Given the description of an element on the screen output the (x, y) to click on. 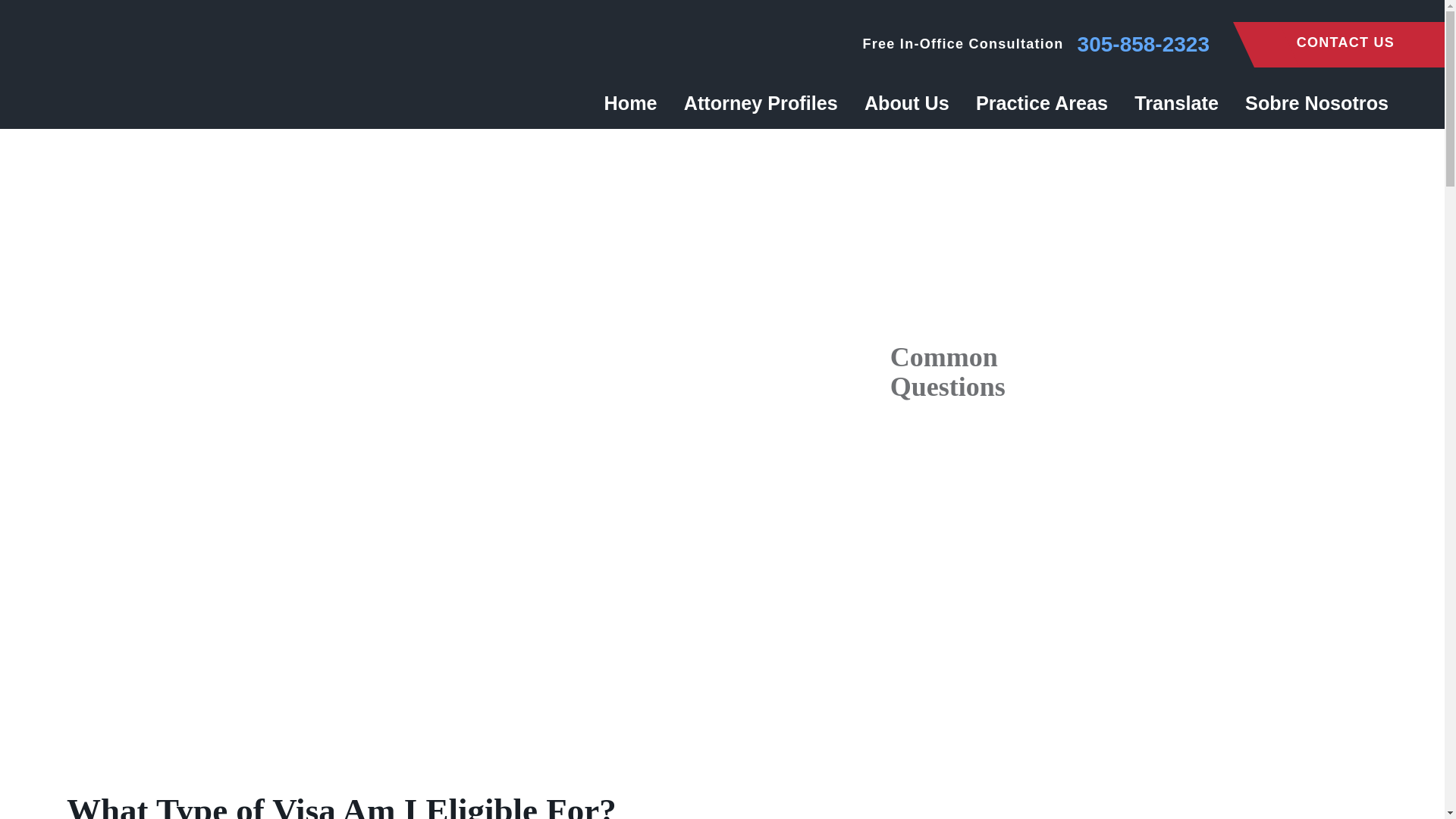
Common Questions (1133, 717)
Attorney Profiles (759, 102)
About Us (906, 102)
Open the accessibility options menu (1412, 786)
Practice Areas (1041, 102)
Translate (1176, 102)
Home (637, 102)
305-858-2323 (1143, 44)
Sobre Nosotros (1310, 102)
